Given the description of an element on the screen output the (x, y) to click on. 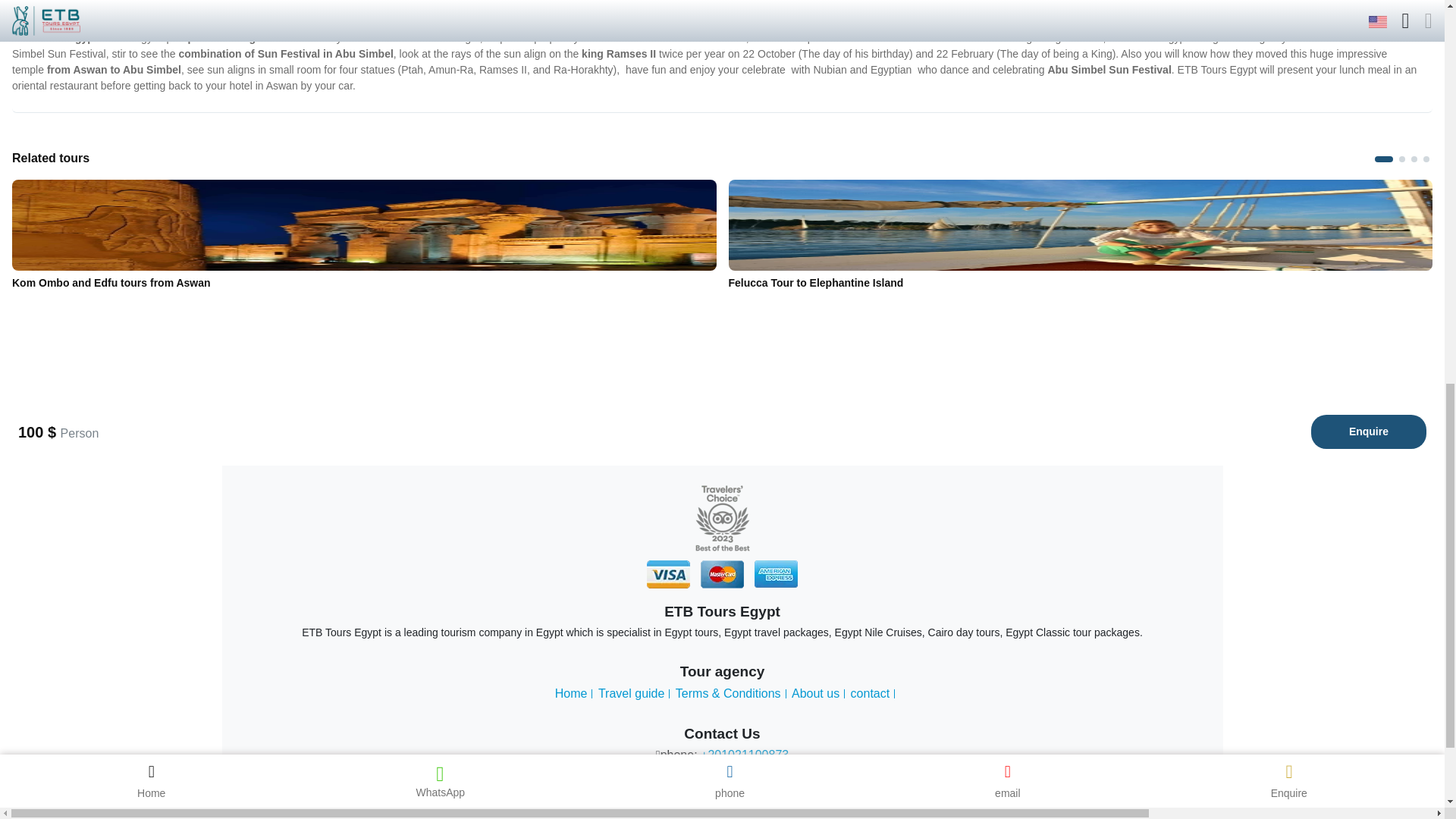
Felucca Tour to Elephantine Island (1080, 225)
ETB Tours Egypt (722, 574)
ETB Tours Egypt (722, 518)
ETB Tours Egypt (775, 574)
Kom Ombo and Edfu tours from Aswan (363, 225)
ETB Tours Egypt (668, 574)
